Given the description of an element on the screen output the (x, y) to click on. 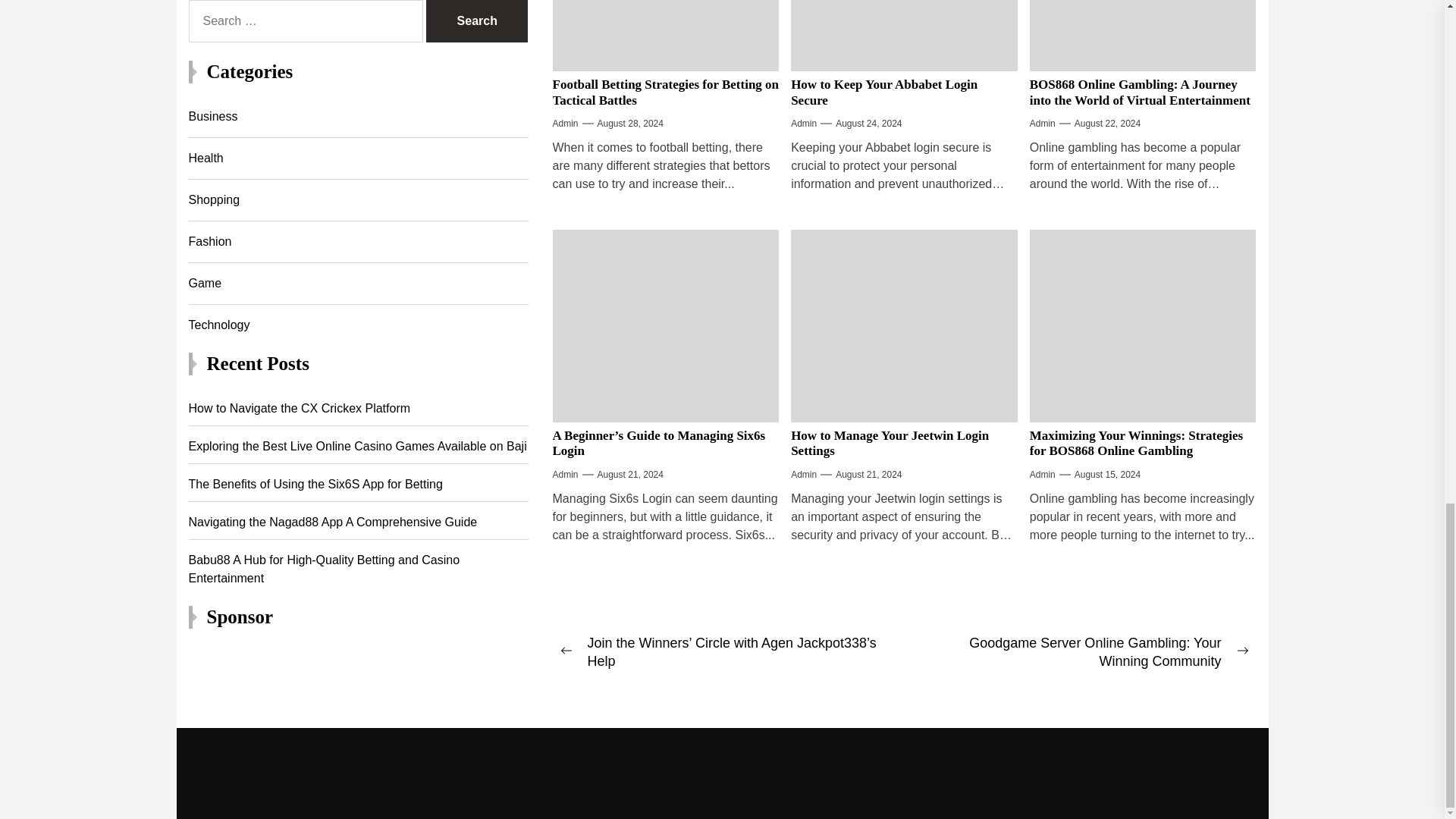
Admin (564, 123)
How to Keep Your Abbabet Login Secure (883, 91)
Football Betting Strategies for Betting on Tactical Battles (664, 91)
August 28, 2024 (629, 123)
Admin (803, 123)
